Given the description of an element on the screen output the (x, y) to click on. 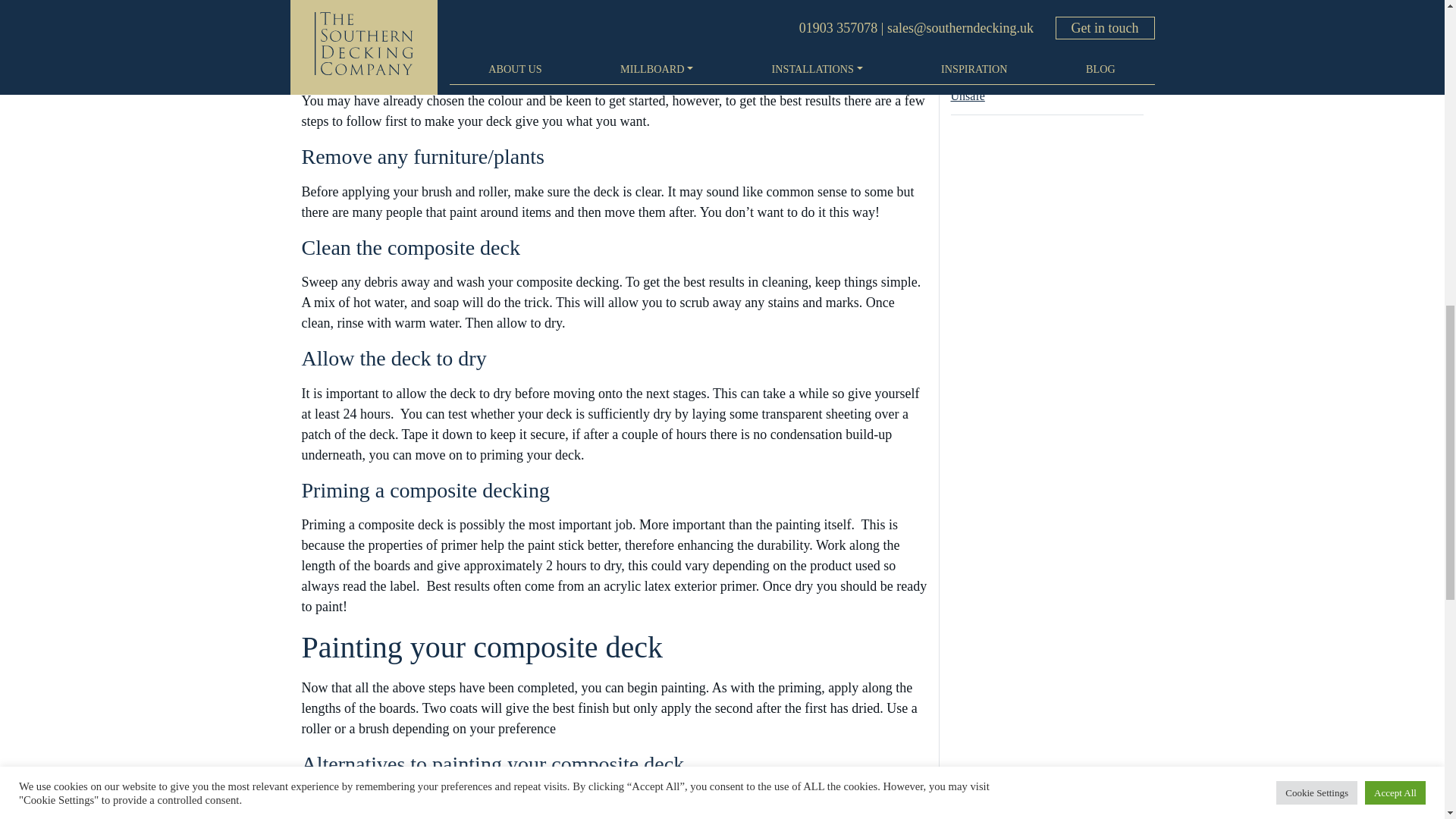
The Key Signs That Your Decking is Unsafe (1046, 58)
